Given the description of an element on the screen output the (x, y) to click on. 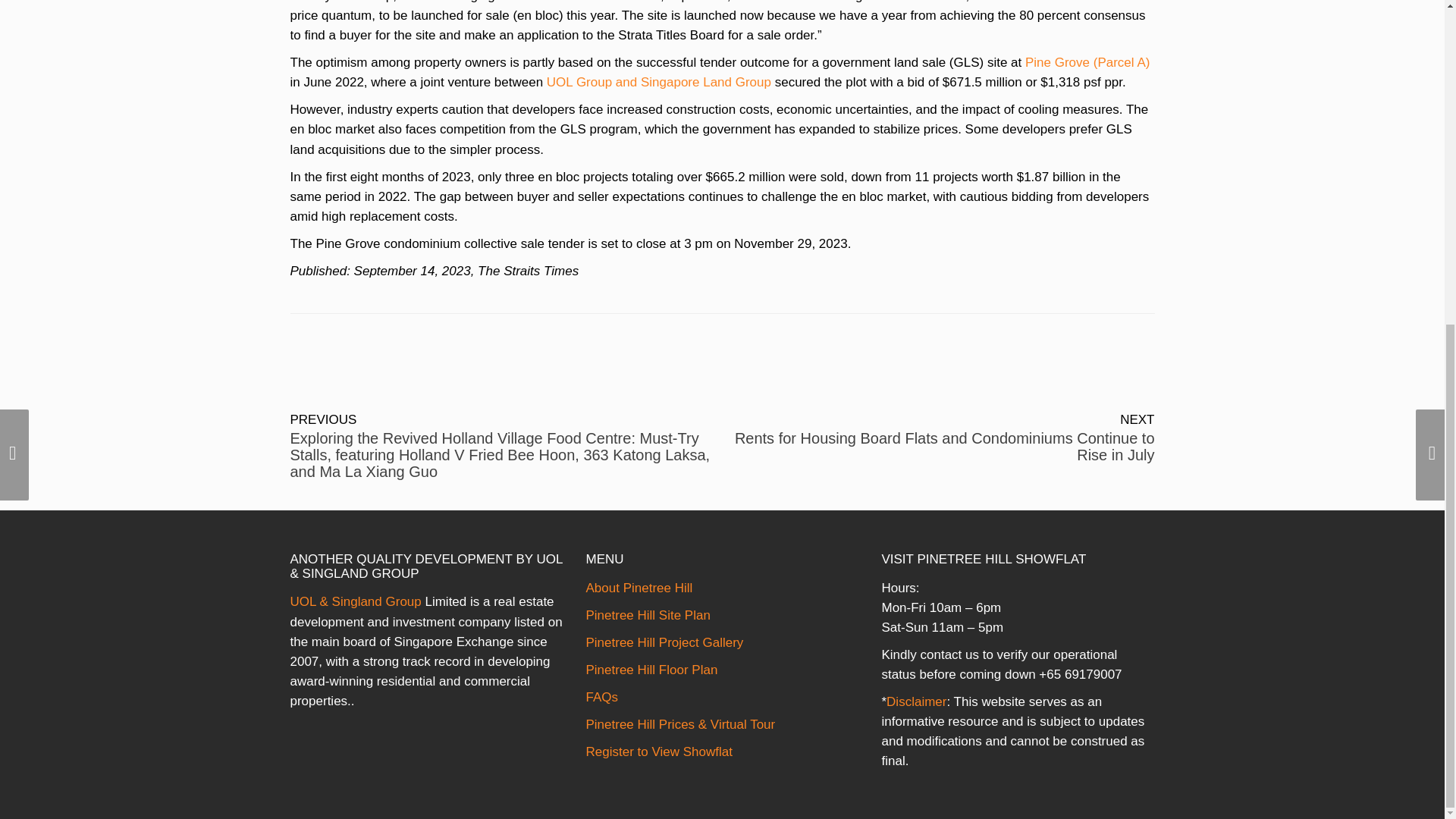
Pinetree Hill Floor Plan (651, 669)
About Pinetree Hill (639, 587)
Open AIPRM sidebar (721, 271)
Pinetree Hill Site Plan (647, 615)
UOL Group and Singapore Land Group (659, 82)
Pinetree Hill Project Gallery (663, 642)
